Given the description of an element on the screen output the (x, y) to click on. 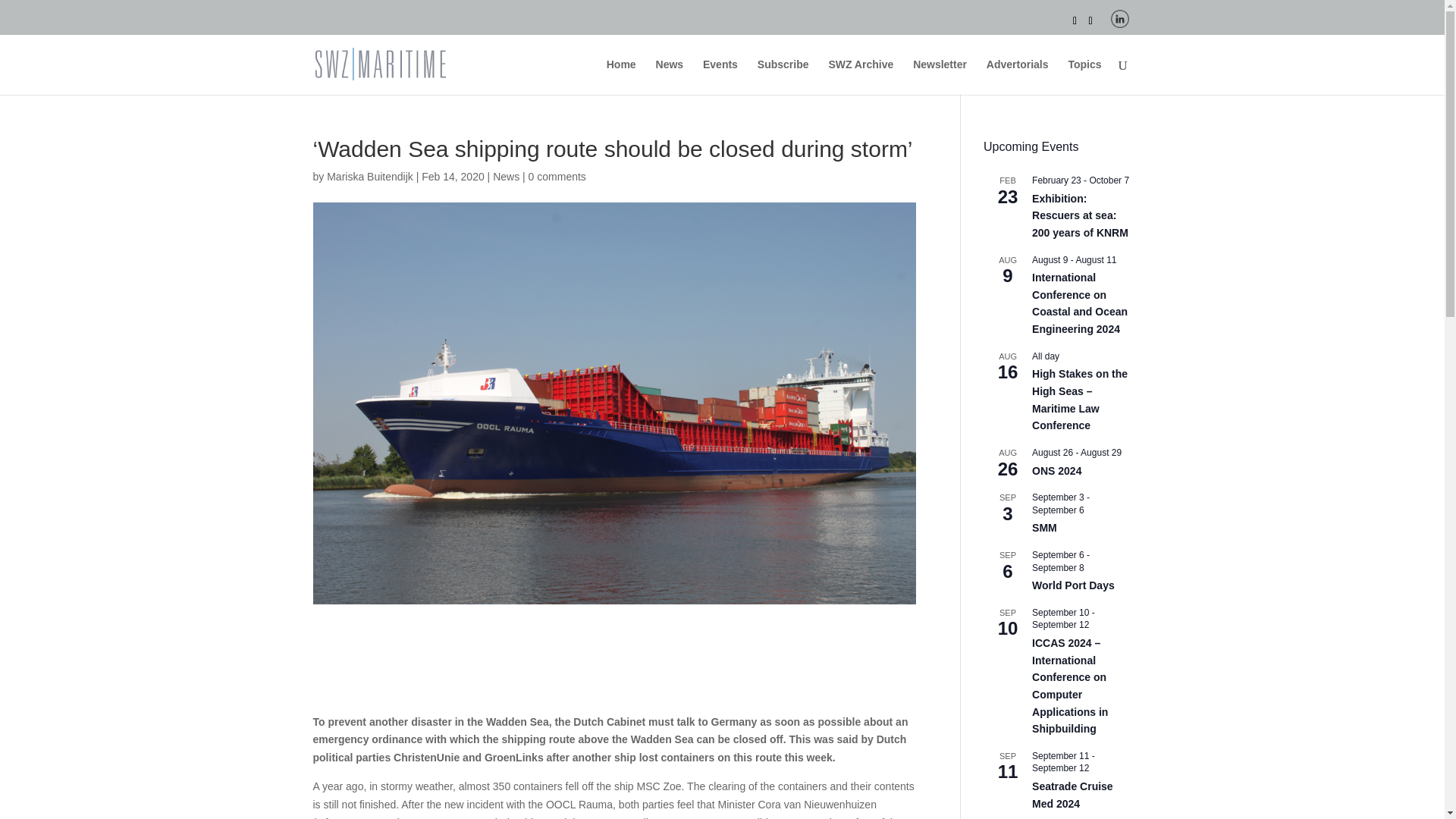
Exhibition: Rescuers at sea: 200 years of KNRM (1080, 215)
Advertorials (1017, 76)
SMM (1044, 527)
SWZ Archive (860, 76)
News (506, 176)
3rd party ad content (613, 673)
ONS 2024 (1056, 471)
Topics (1083, 76)
Posts by Mariska Buitendijk (369, 176)
